Given the description of an element on the screen output the (x, y) to click on. 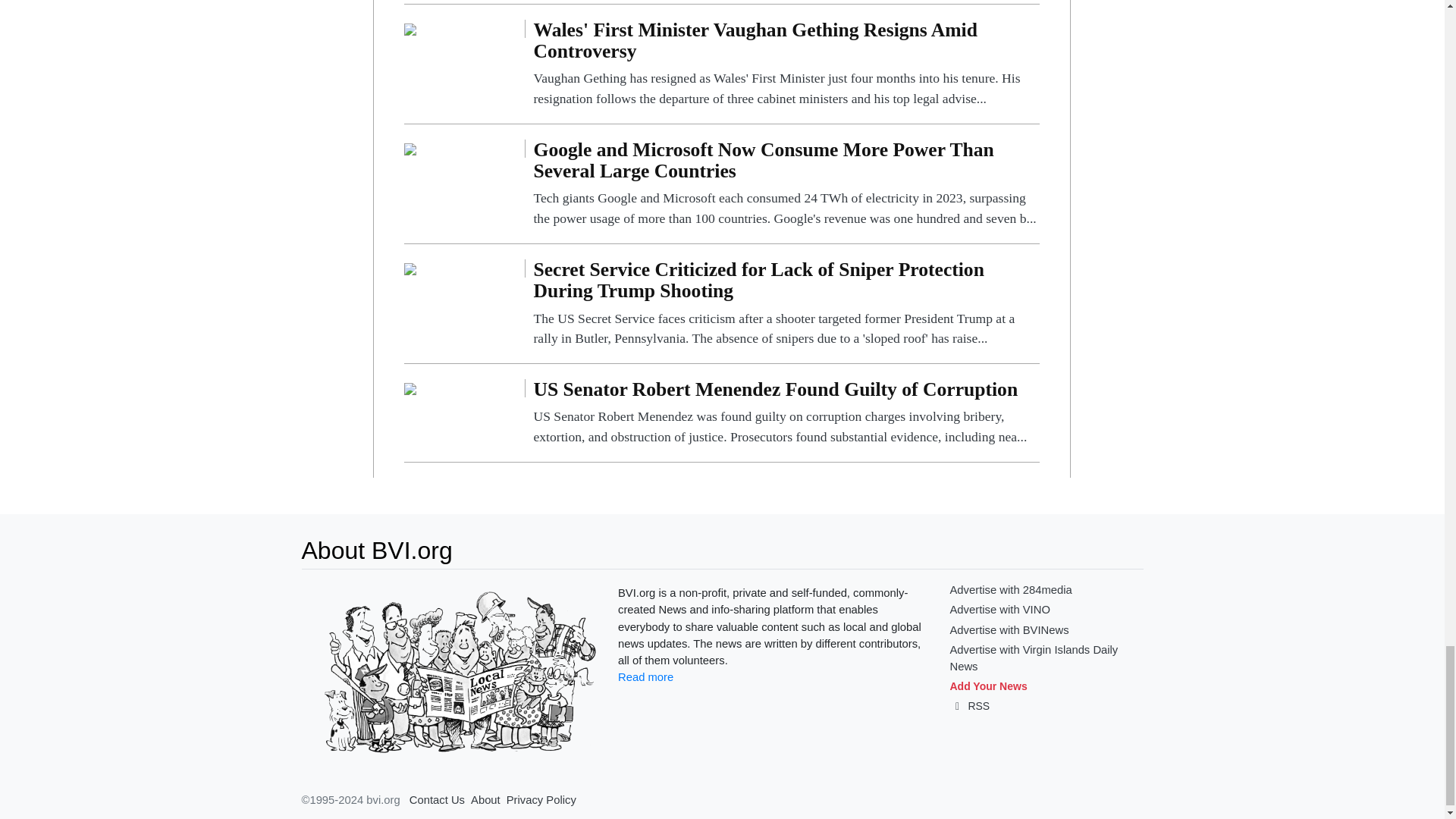
Advertise with 284media (1010, 589)
Read more (644, 676)
